Given the description of an element on the screen output the (x, y) to click on. 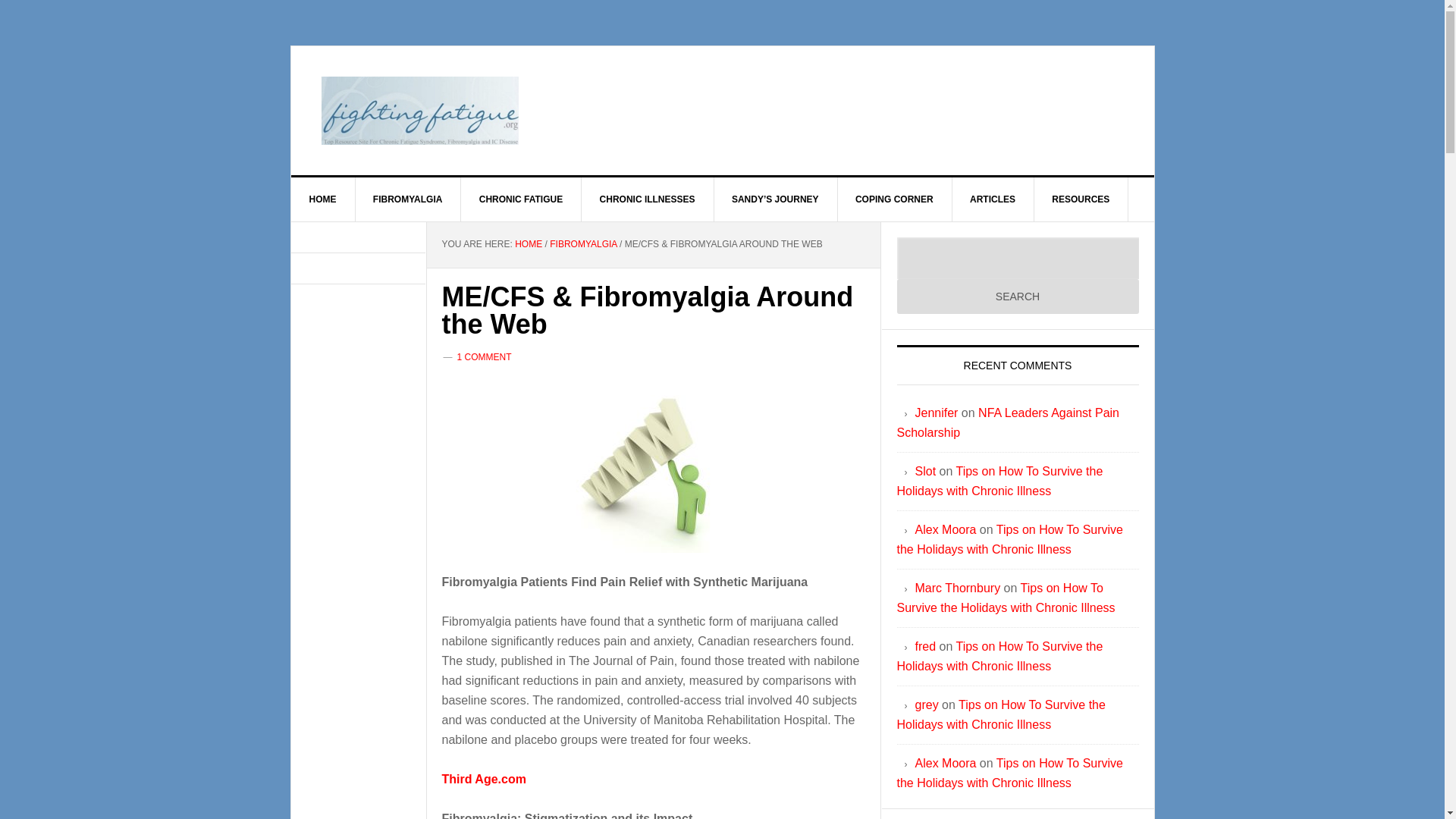
Third Age.com (483, 779)
FIBROMYALGIA (408, 199)
ARTICLES (992, 199)
FIBROMYALGIA (582, 244)
HOME (323, 199)
CHRONIC FATIGUE SYNDROME (419, 110)
HOME (528, 244)
1 COMMENT (484, 357)
CHRONIC FATIGUE (520, 199)
RESOURCES (1080, 199)
